Given the description of an element on the screen output the (x, y) to click on. 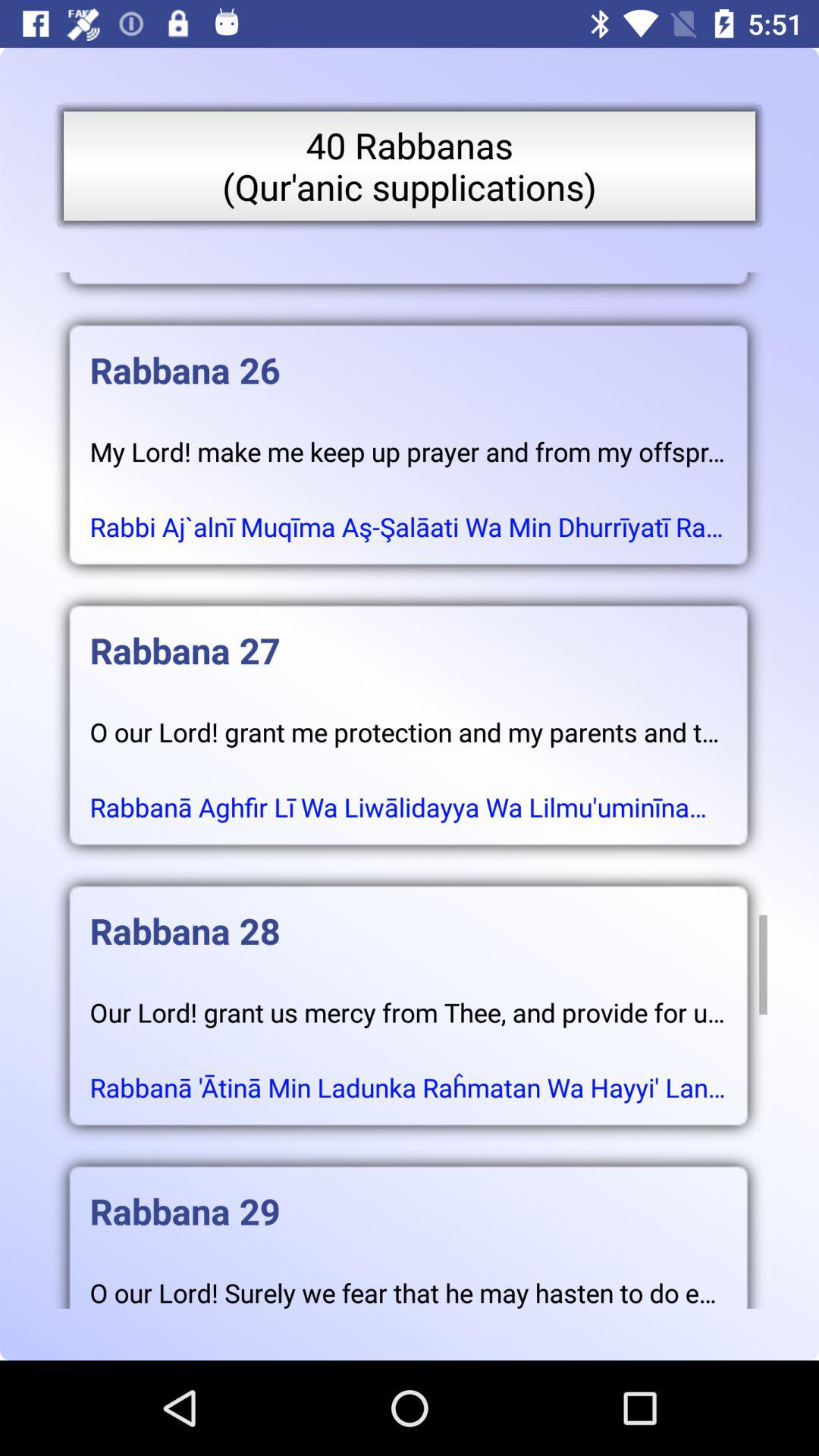
open the icon above o our lord (408, 635)
